Given the description of an element on the screen output the (x, y) to click on. 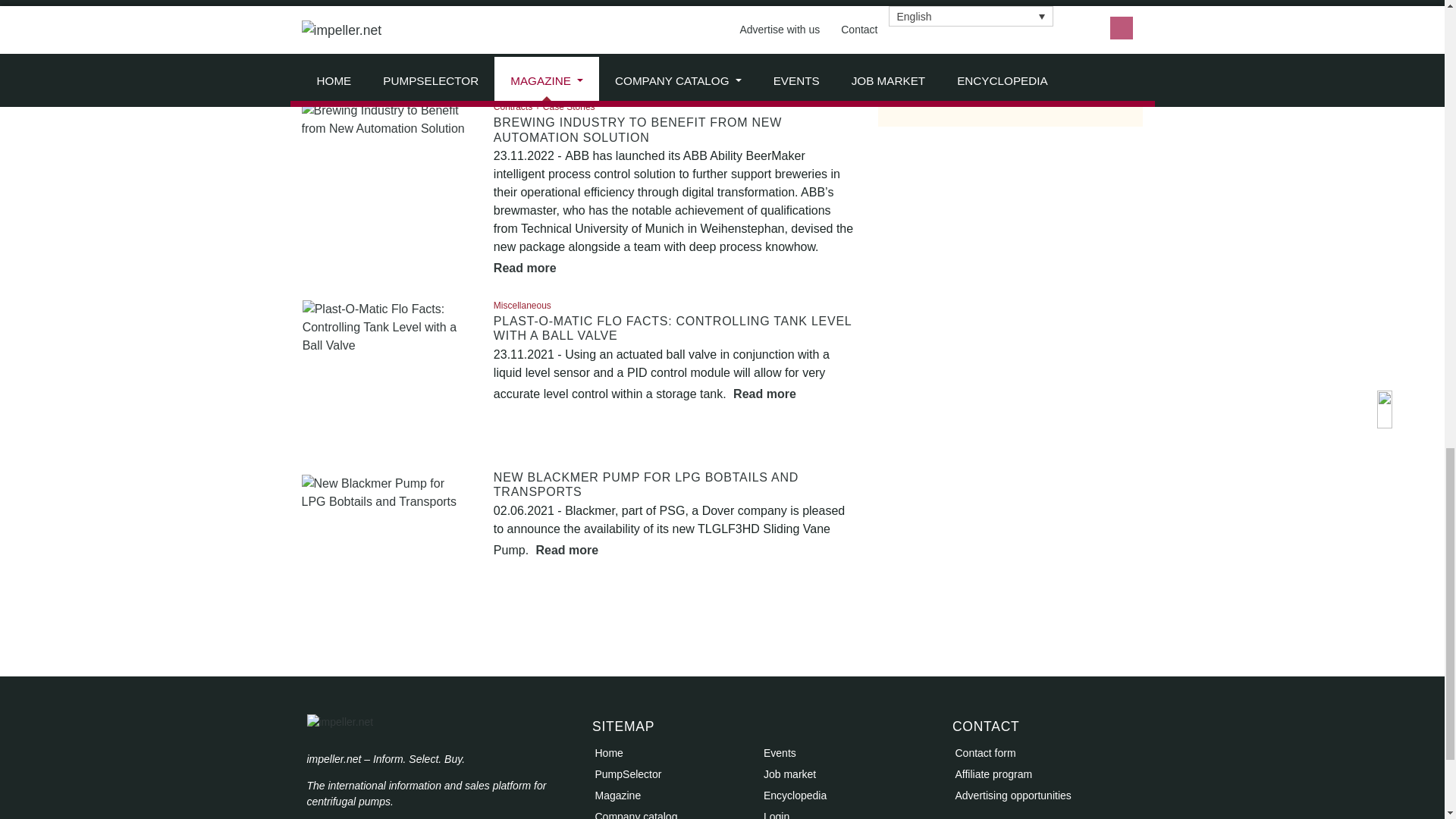
View more events. (927, 21)
VALVE WORLD EXPO 2024 (975, 5)
Read more (666, 69)
